Given the description of an element on the screen output the (x, y) to click on. 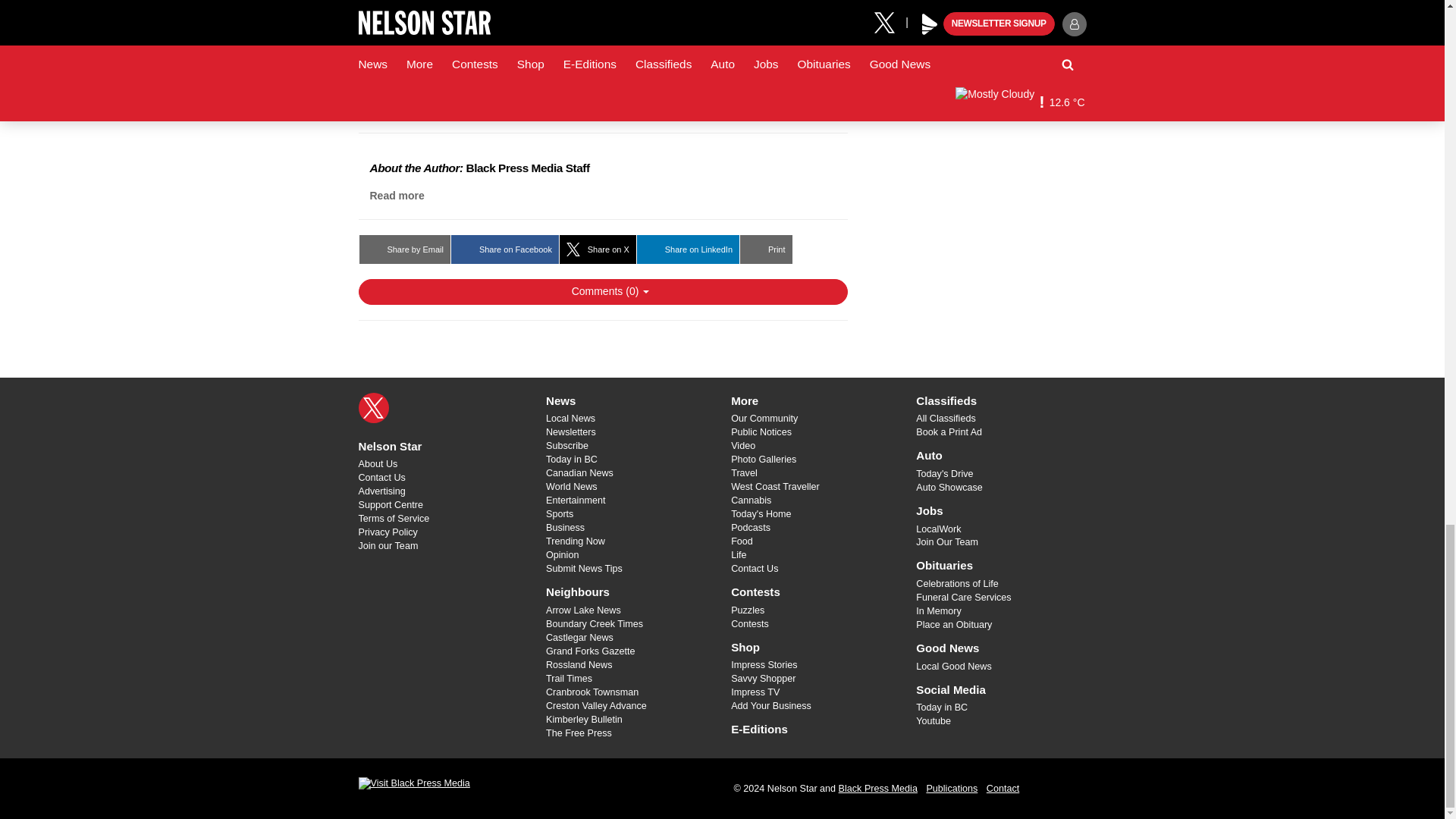
Show Comments (602, 291)
X (373, 408)
